Given the description of an element on the screen output the (x, y) to click on. 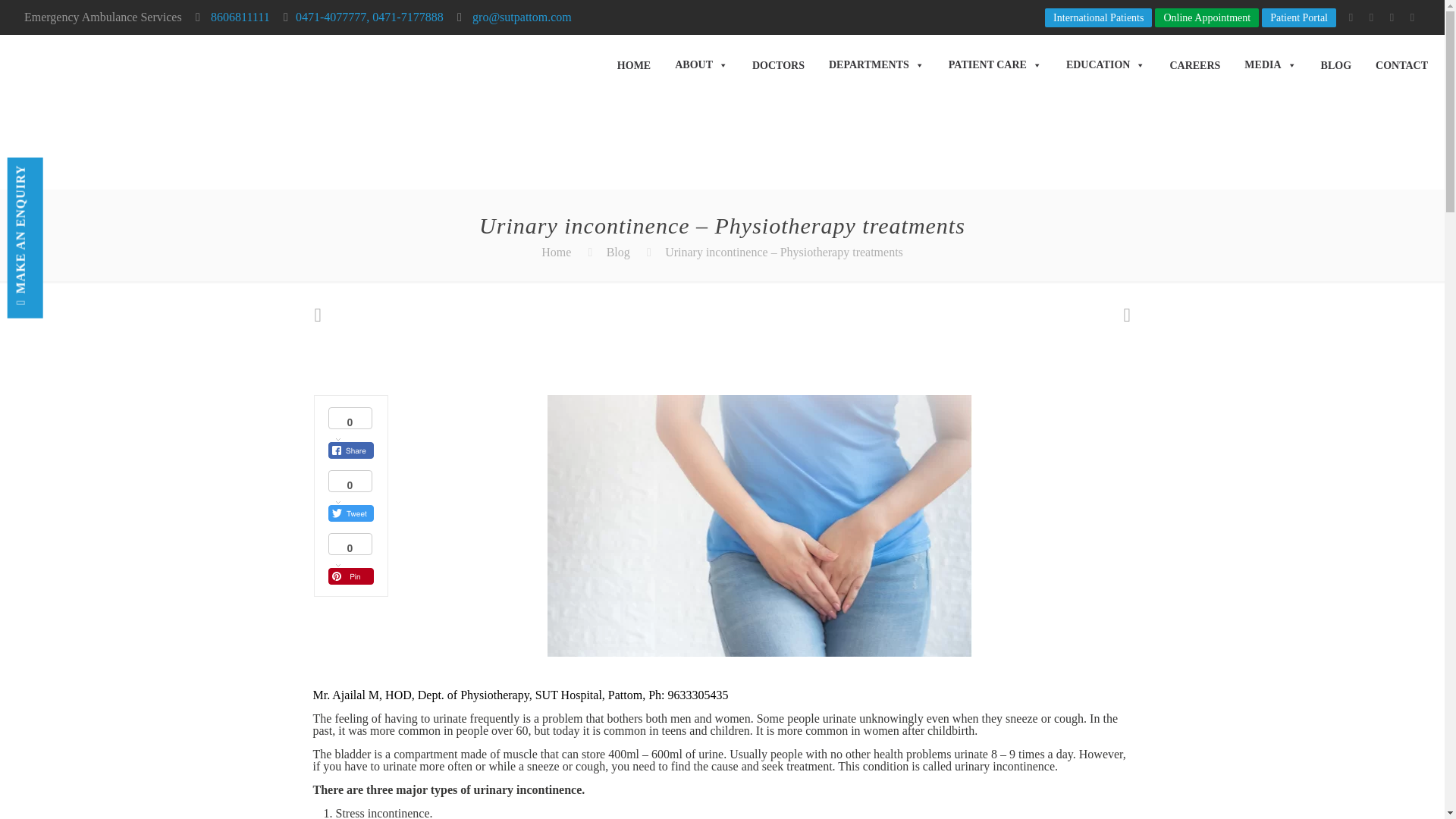
Instagram (1413, 17)
8606811111 (238, 16)
DOCTORS (778, 64)
International Patients (1098, 17)
HOME (634, 64)
YouTube (1370, 17)
0471-4077777, 0471-7177888 (369, 16)
DEPARTMENTS (876, 64)
Patient Portal (1299, 17)
Online Appointment (1206, 17)
Facebook (1350, 17)
LinkedIn (1391, 17)
ABOUT (700, 64)
